Given the description of an element on the screen output the (x, y) to click on. 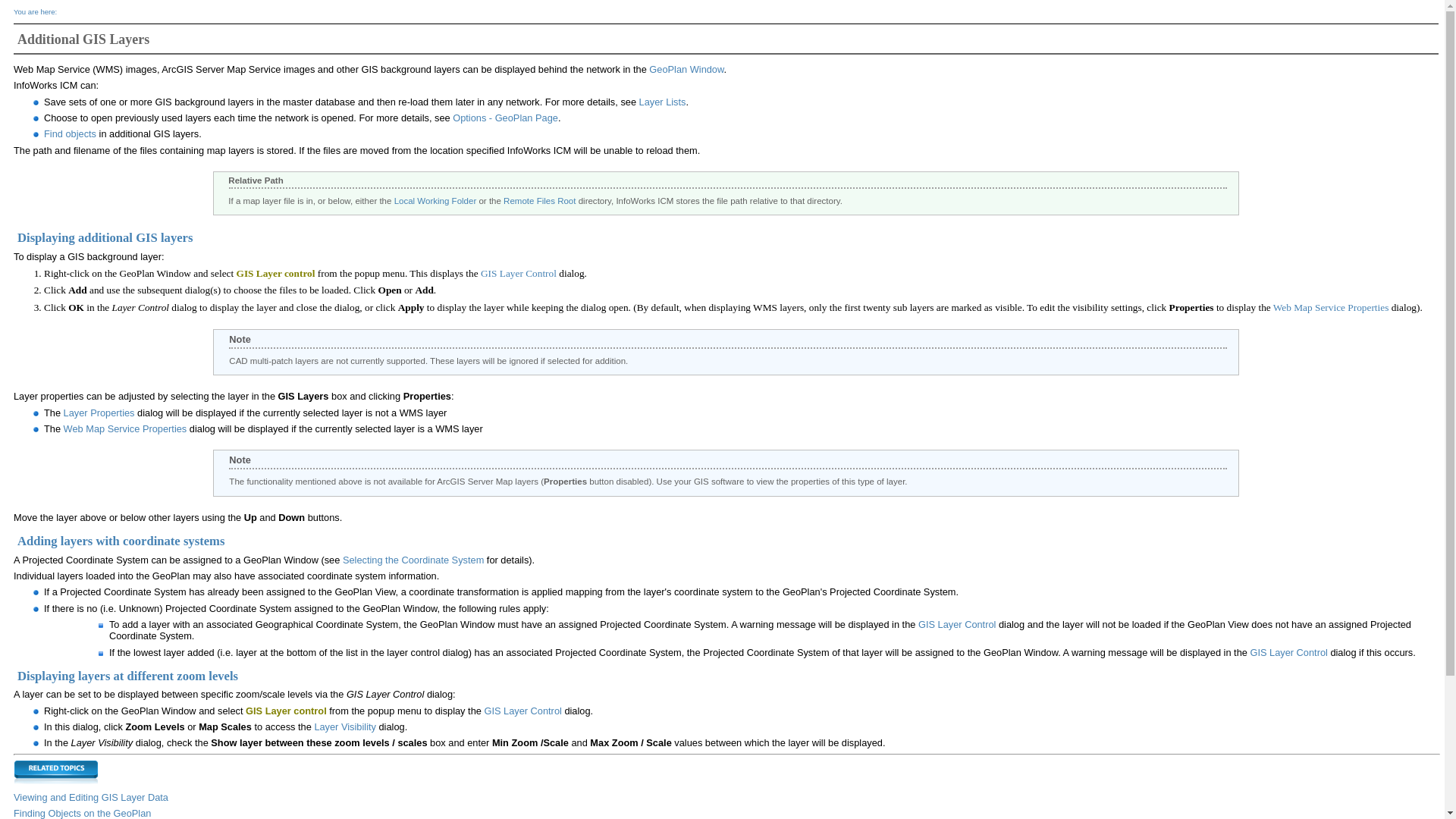
Find objects (69, 133)
GeoPlan Window (686, 69)
Layer Visibility (344, 726)
Layer Lists (662, 101)
Options - GeoPlan Page (504, 117)
GIS Layer Control (518, 273)
Viewing and Editing GIS Layer Data (90, 797)
GIS Layer Control (521, 710)
Finding Objects on the GeoPlan (82, 813)
GIS Layer Control (1287, 652)
Layer Properties (99, 412)
Web Map Service Properties (1330, 307)
GIS Layer Control (956, 624)
Web Map Service Properties (125, 428)
Remote Files Root (539, 200)
